Given the description of an element on the screen output the (x, y) to click on. 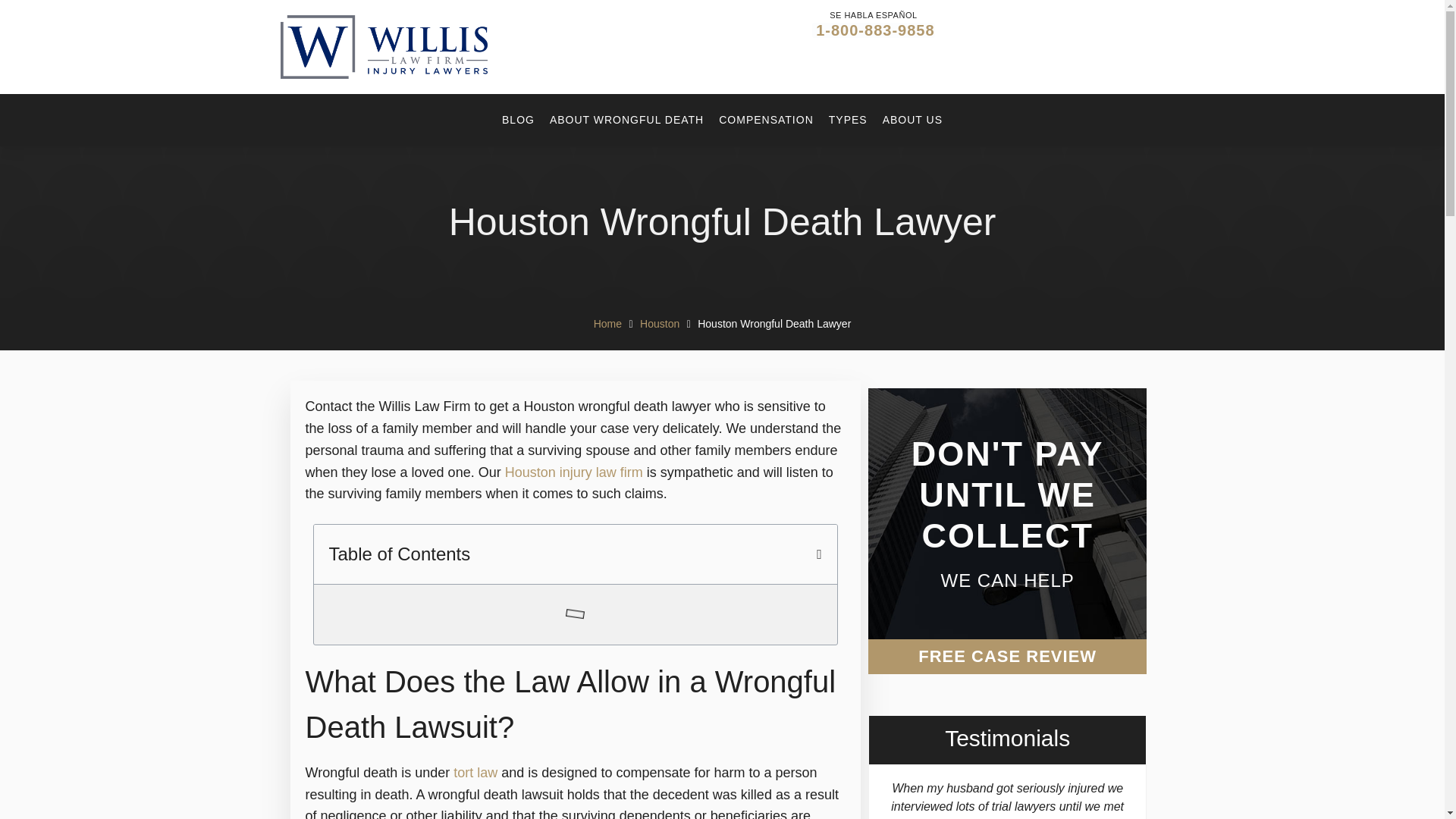
COMPENSATION (766, 119)
Houston (659, 323)
ABOUT WRONGFUL DEATH (626, 119)
BLOG (518, 119)
Home (607, 323)
1-800-883-9858 (873, 29)
Home (607, 323)
tort law (474, 772)
TYPES (848, 119)
Houston (659, 323)
